Given the description of an element on the screen output the (x, y) to click on. 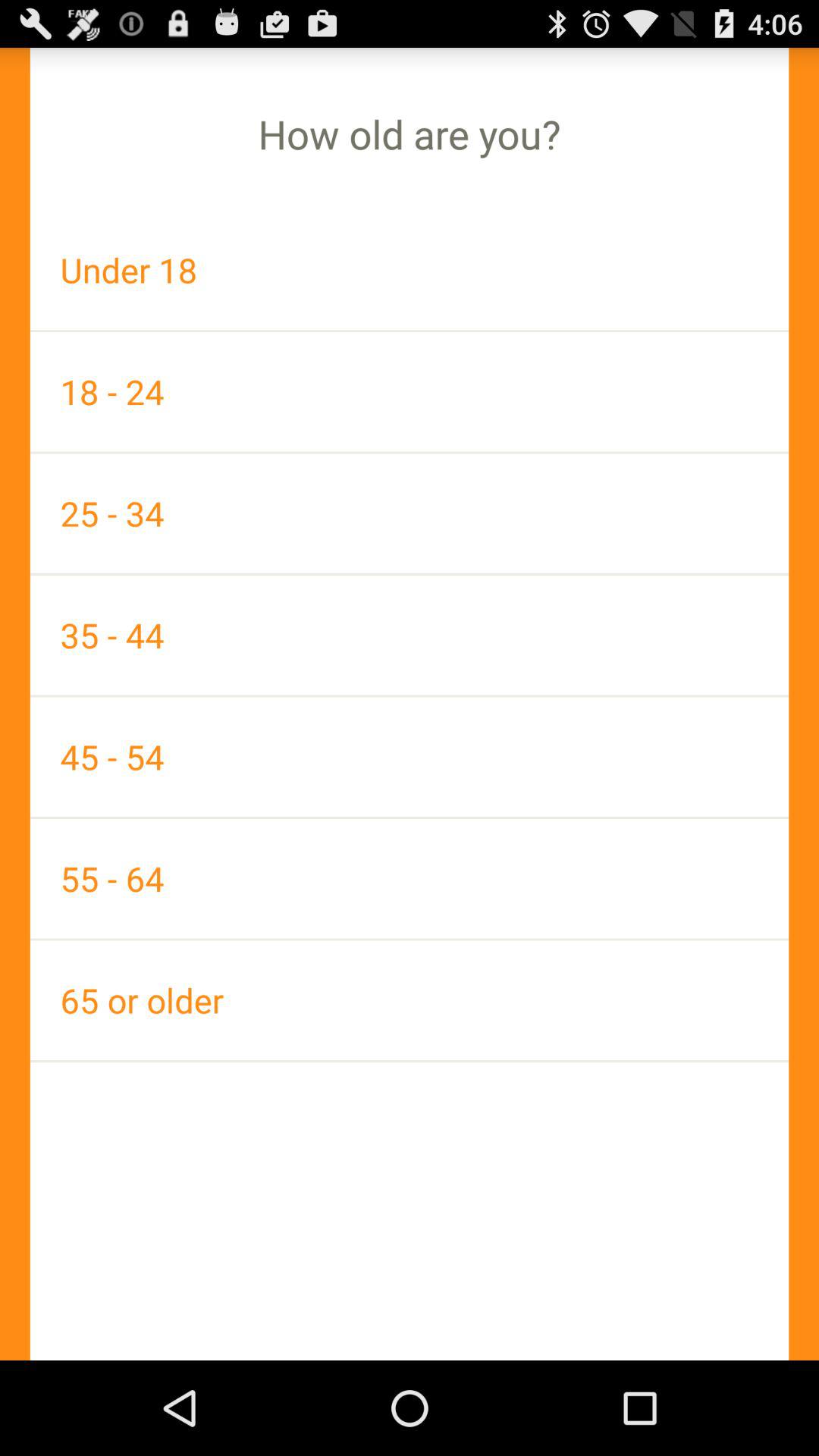
turn off 65 or older icon (409, 1000)
